Given the description of an element on the screen output the (x, y) to click on. 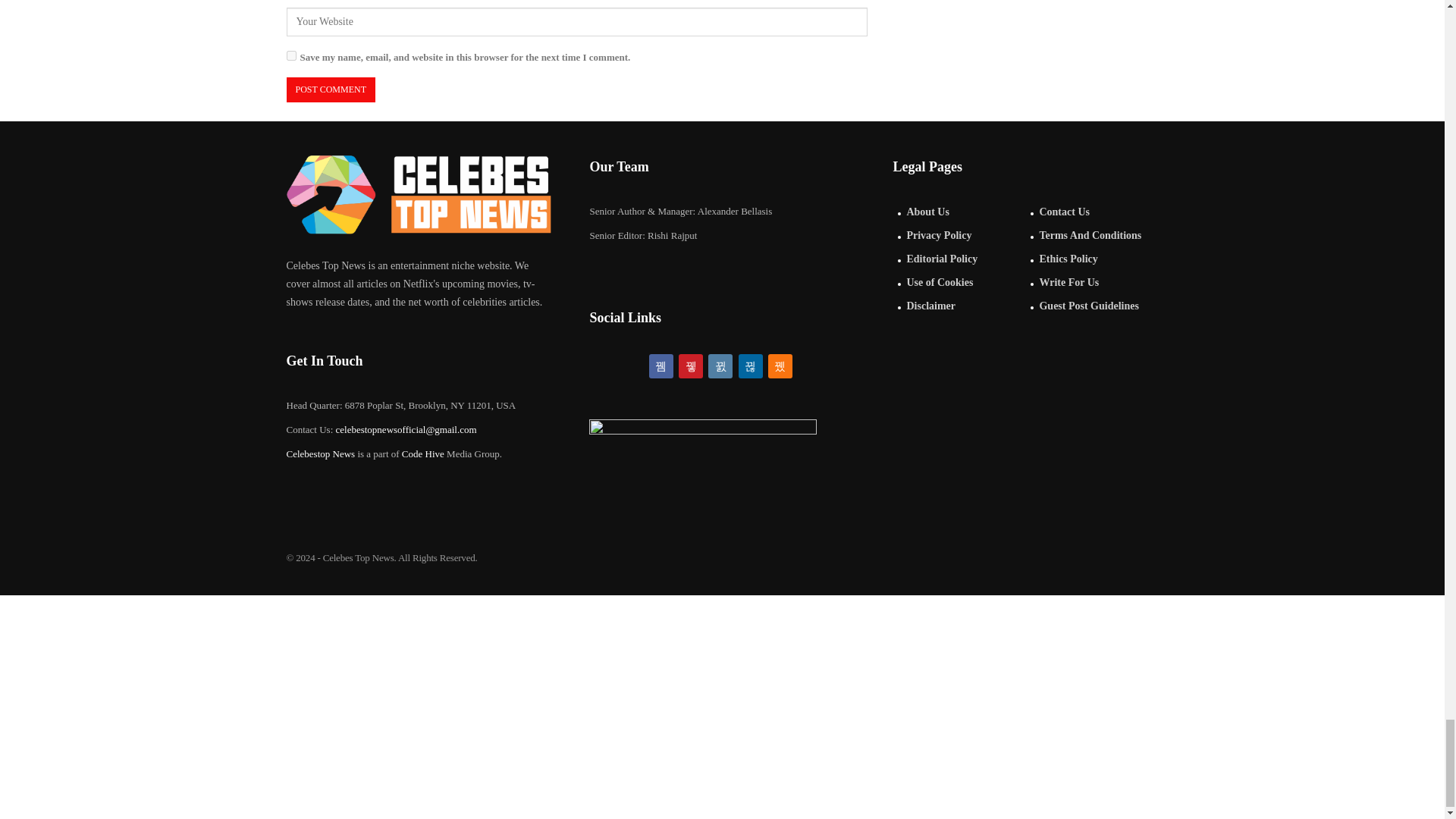
yes (291, 55)
Post Comment (330, 89)
